Given the description of an element on the screen output the (x, y) to click on. 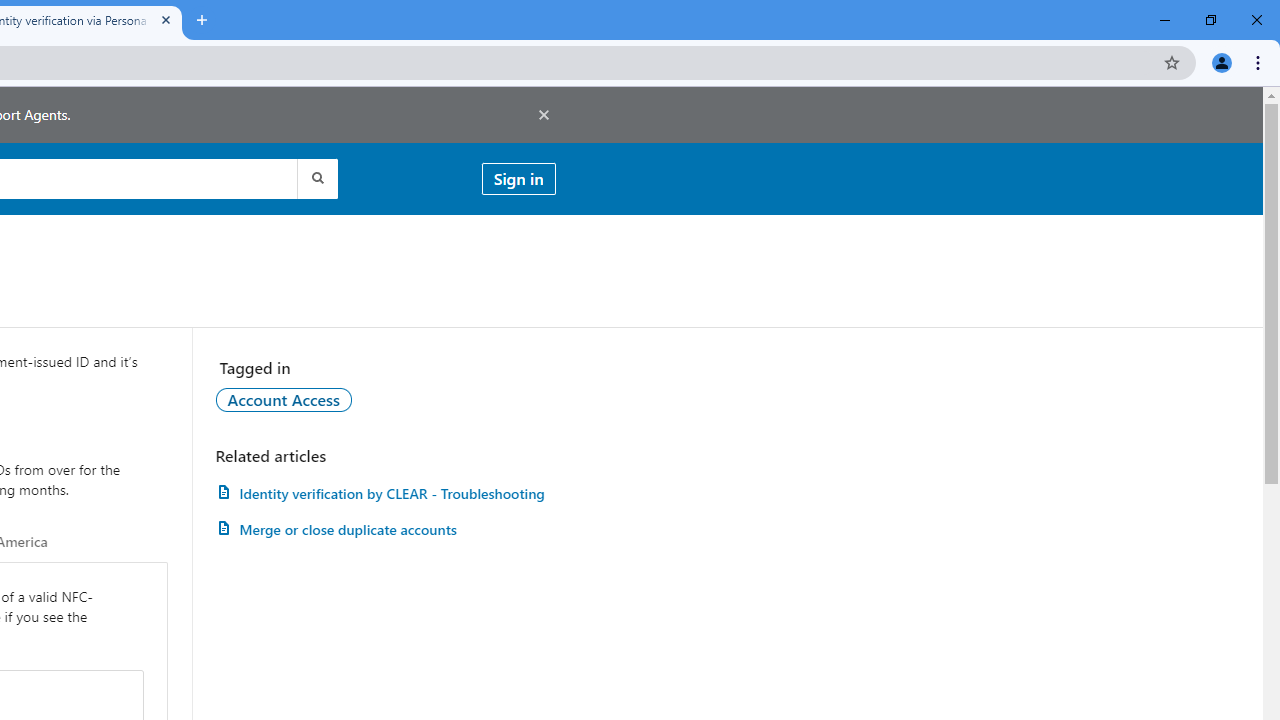
Identity verification by CLEAR - Troubleshooting (385, 493)
Merge or close duplicate accounts (385, 529)
Account Access (283, 399)
AutomationID: topic-link-a151002 (283, 399)
AutomationID: article-link-a1337200 (385, 529)
Submit search (316, 178)
